Given the description of an element on the screen output the (x, y) to click on. 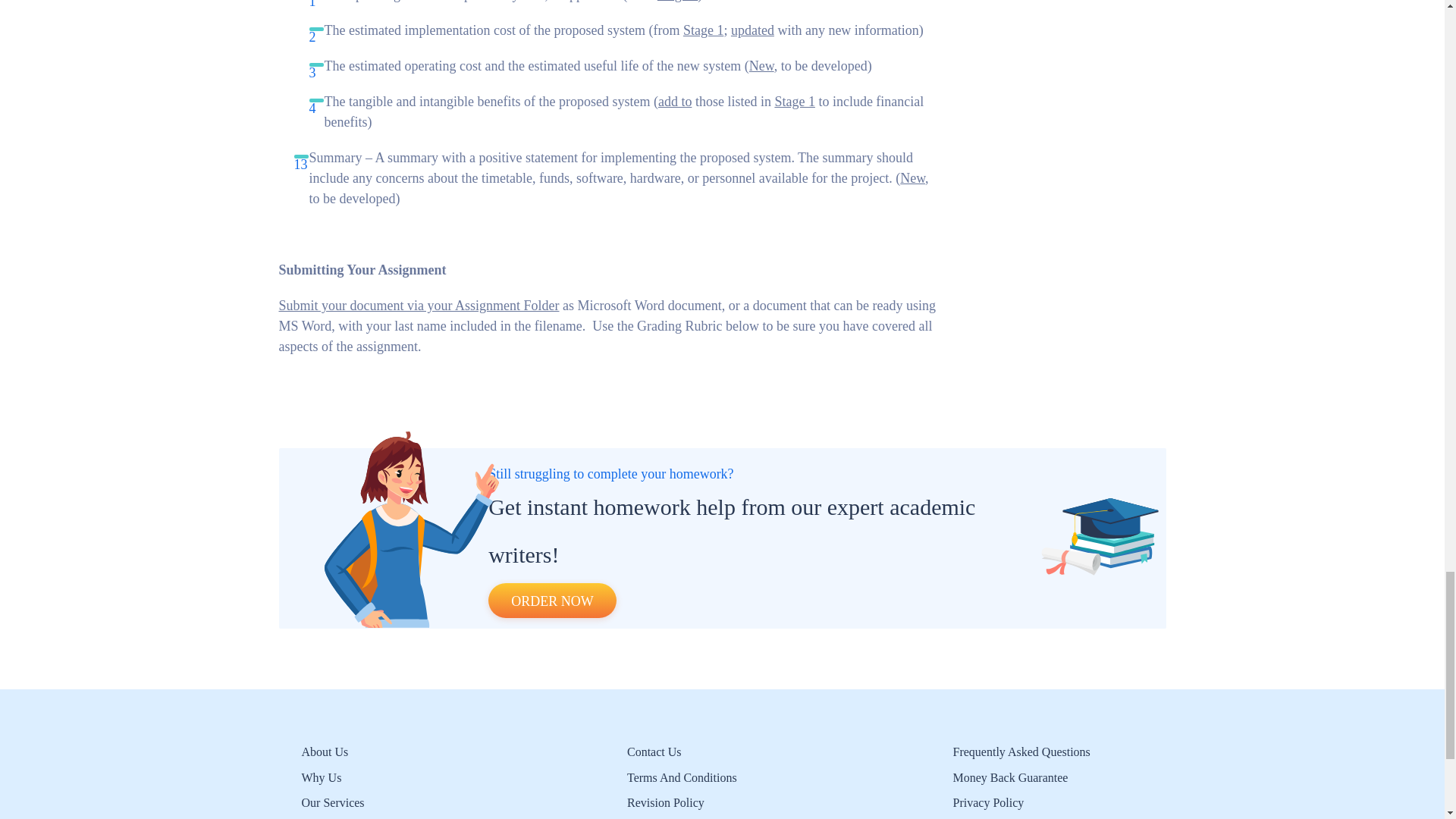
ORDER NOW (551, 600)
Why Us (321, 777)
Contact Us (654, 751)
About Us (325, 751)
Revision Policy (665, 802)
Our Services (333, 802)
Terms And Conditions (681, 777)
